Given the description of an element on the screen output the (x, y) to click on. 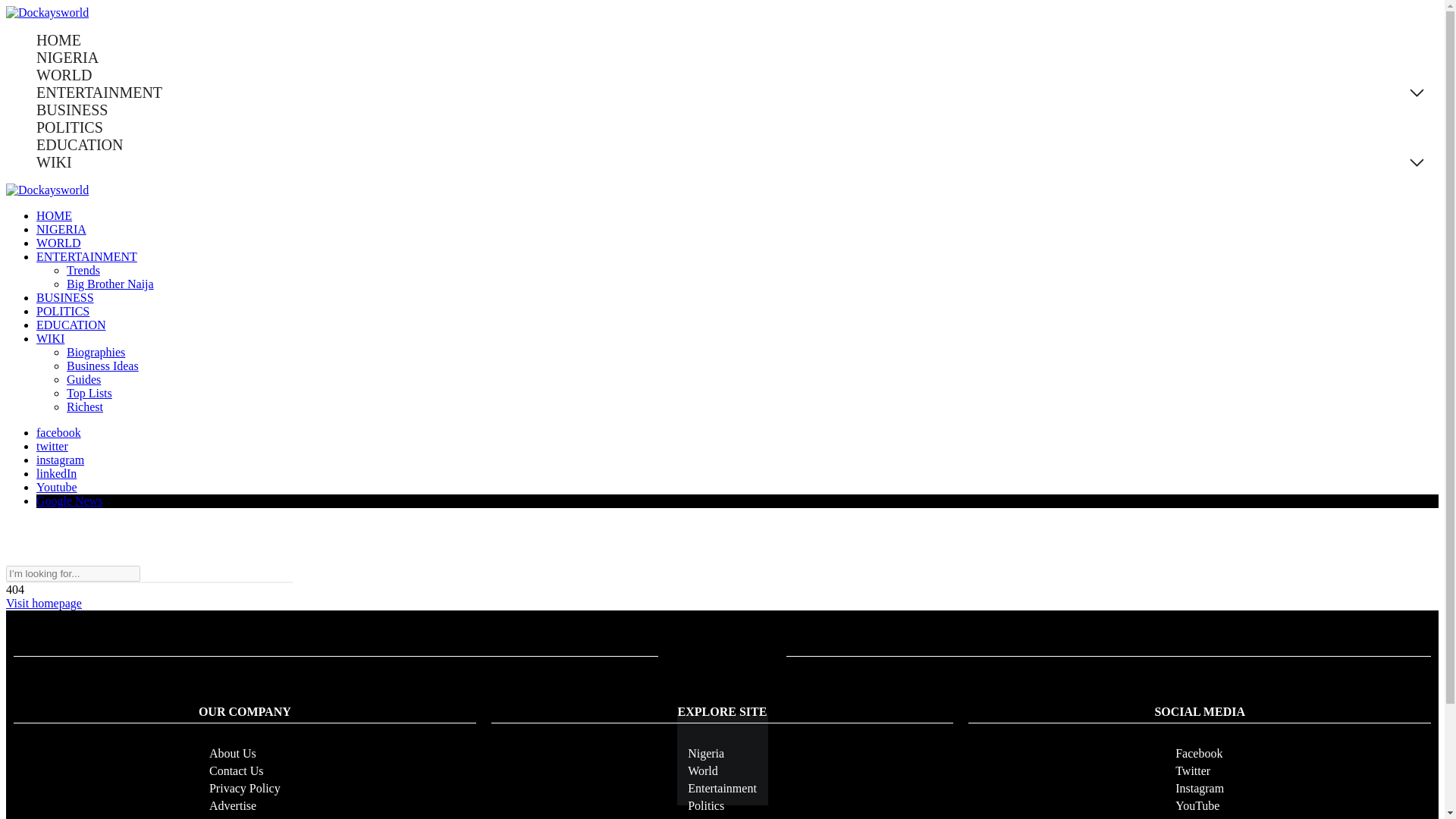
Trends (83, 269)
NIGERIA (67, 57)
Youtube (56, 486)
Guides (83, 379)
POLITICS (62, 310)
Dockaysworld  (46, 12)
HOME (53, 215)
ENTERTAINMENT (98, 92)
POLITICS (69, 127)
Google News (69, 500)
